Given the description of an element on the screen output the (x, y) to click on. 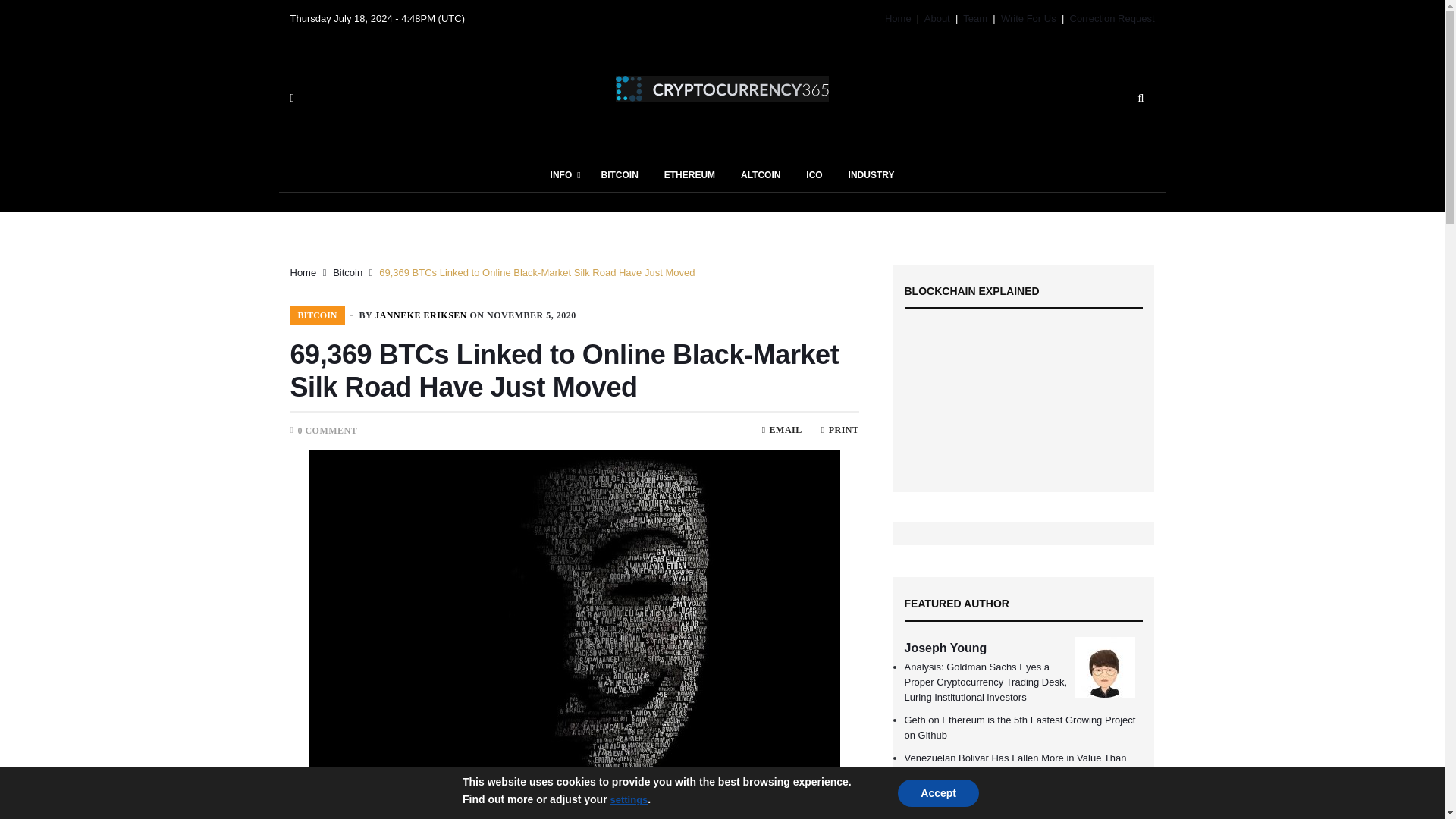
Team (974, 18)
About (937, 18)
Write For Us (1029, 18)
Home (898, 18)
Posts by Janneke Eriksen (420, 315)
Posts by Joseph Young (945, 647)
